Given the description of an element on the screen output the (x, y) to click on. 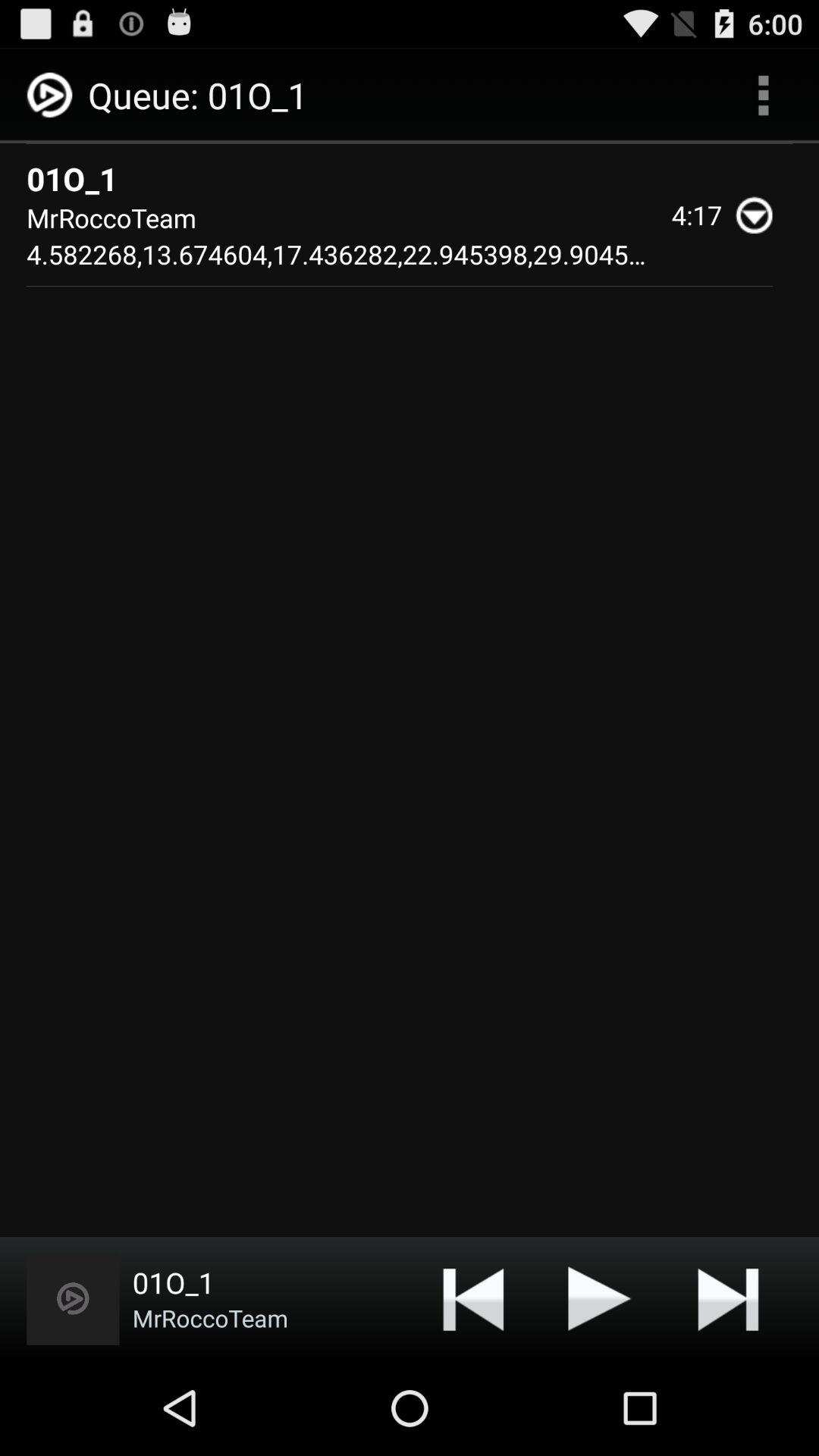
press the app to the right of 01o_1 app (763, 95)
